Given the description of an element on the screen output the (x, y) to click on. 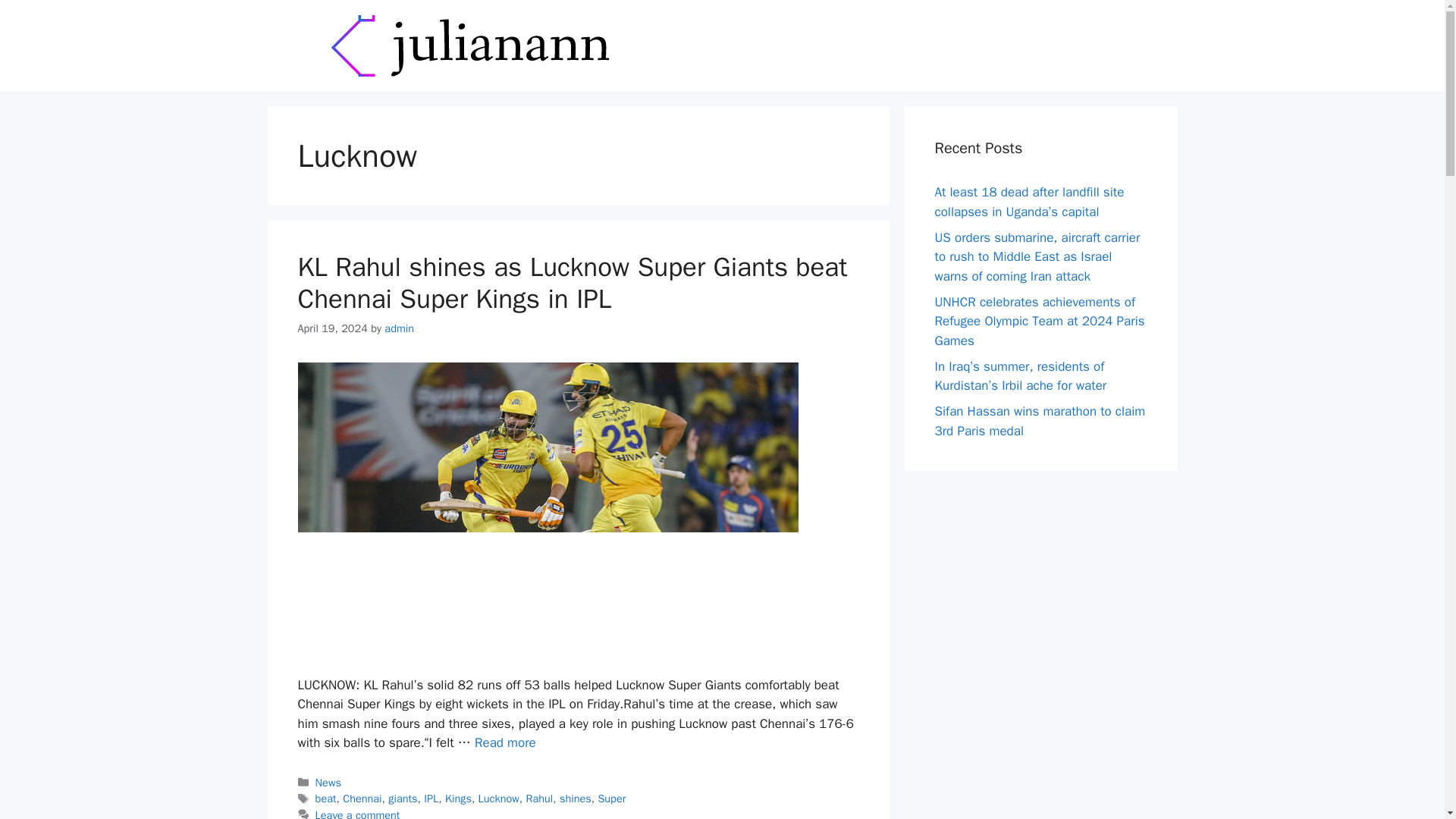
admin (398, 327)
News (327, 782)
IPL (430, 798)
giants (402, 798)
View all posts by admin (398, 327)
Leave a comment (357, 813)
shines (575, 798)
Kings (458, 798)
Chennai (361, 798)
